Given the description of an element on the screen output the (x, y) to click on. 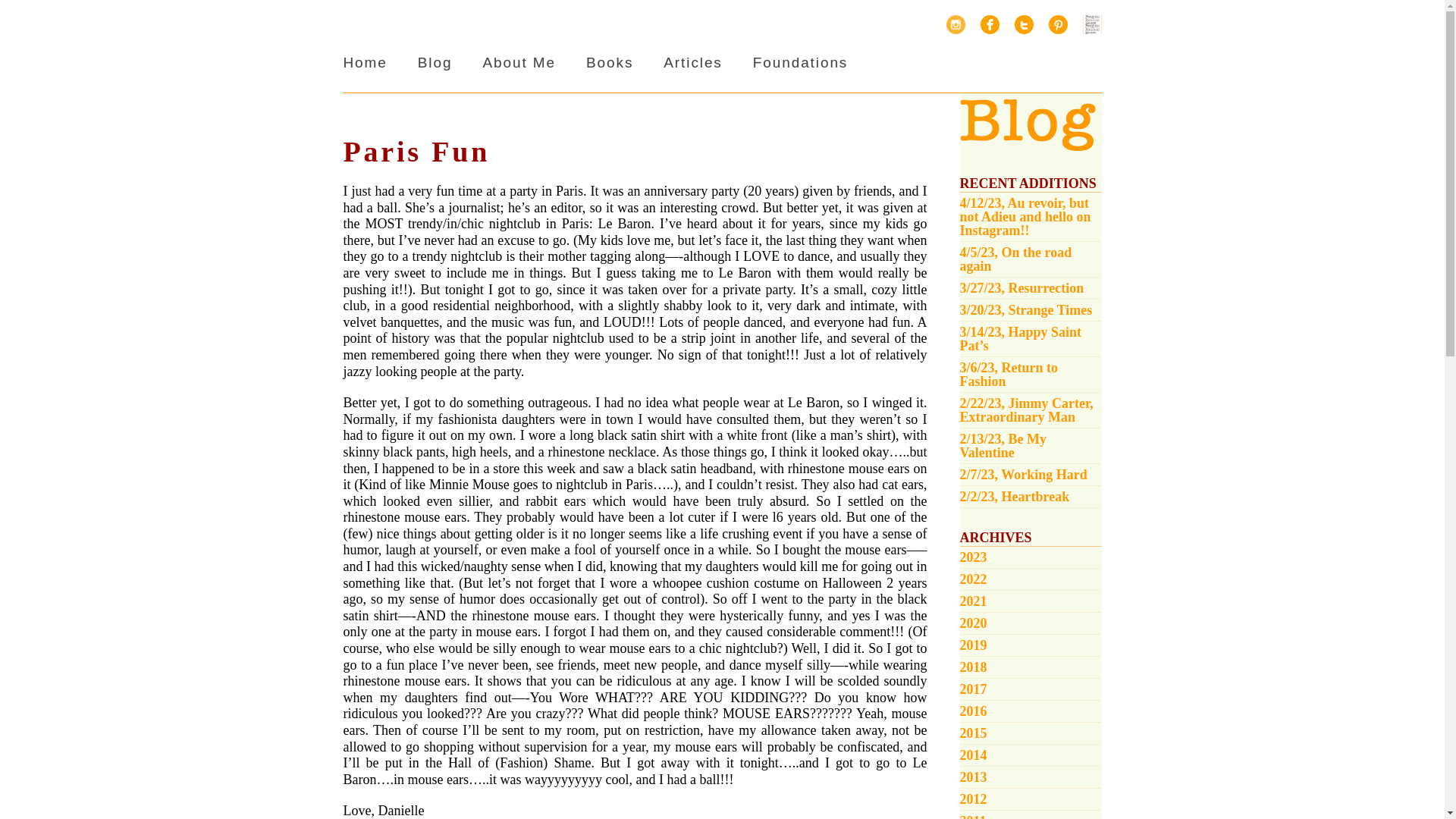
Facebook (988, 24)
2021 (1030, 601)
2022 (1030, 579)
2016 (1030, 711)
Articles (692, 62)
Home (364, 62)
Foundations (799, 62)
About Me (518, 62)
Blog (434, 62)
Random House (1092, 24)
